Given the description of an element on the screen output the (x, y) to click on. 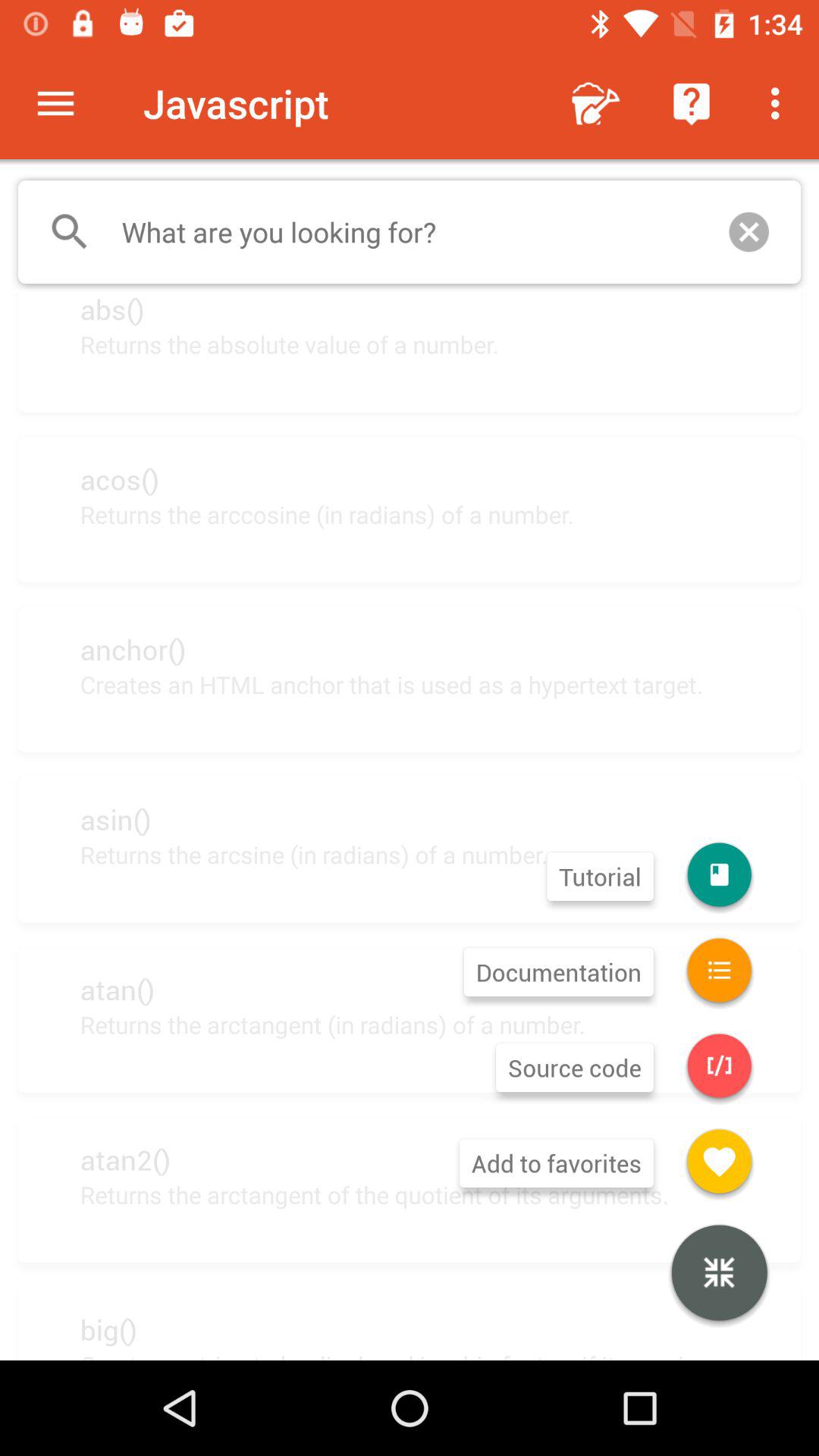
launch the item next to returns the arctangent item (719, 1274)
